Given the description of an element on the screen output the (x, y) to click on. 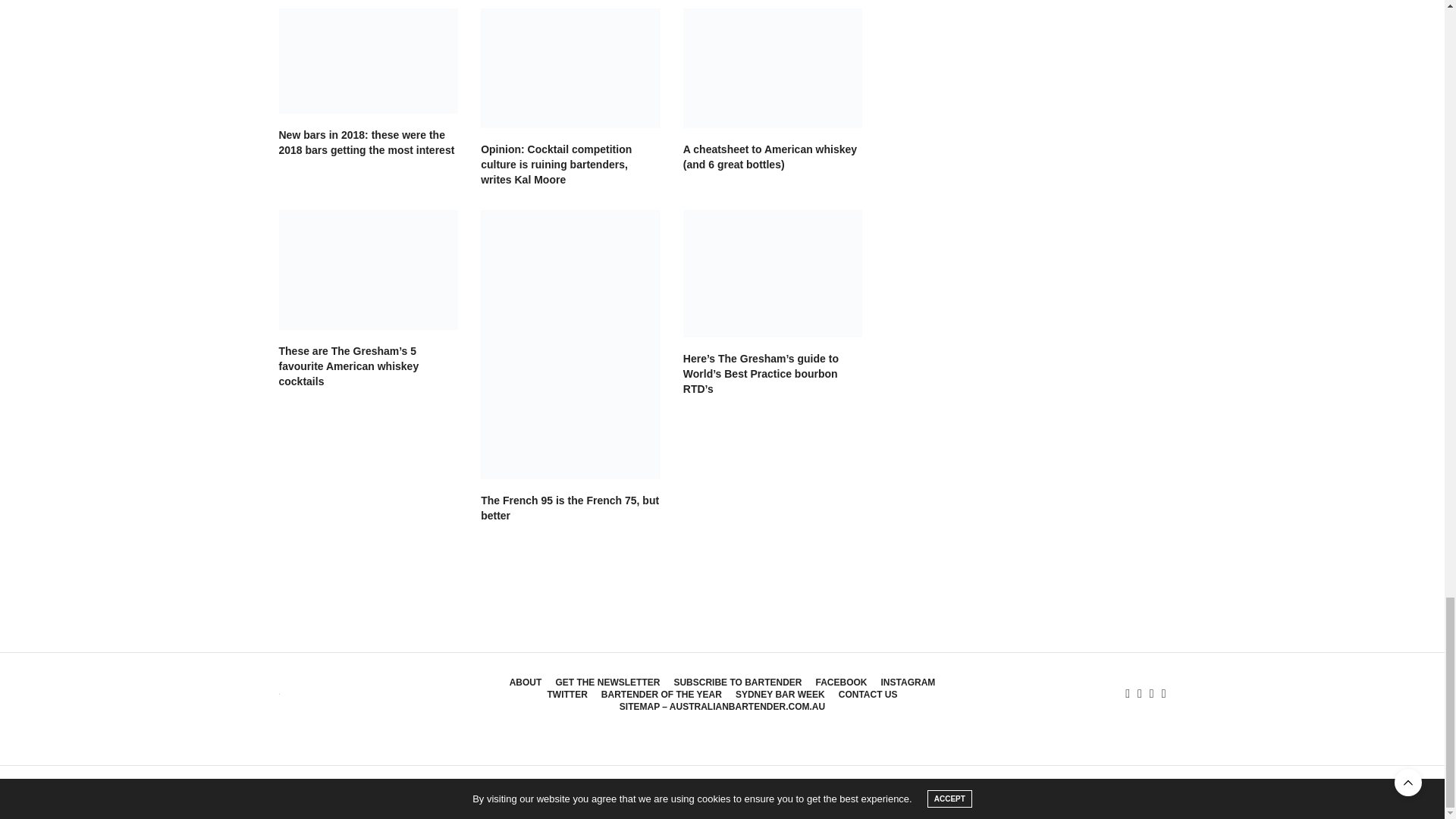
The French 95 is the French 75, but better (569, 507)
